Given the description of an element on the screen output the (x, y) to click on. 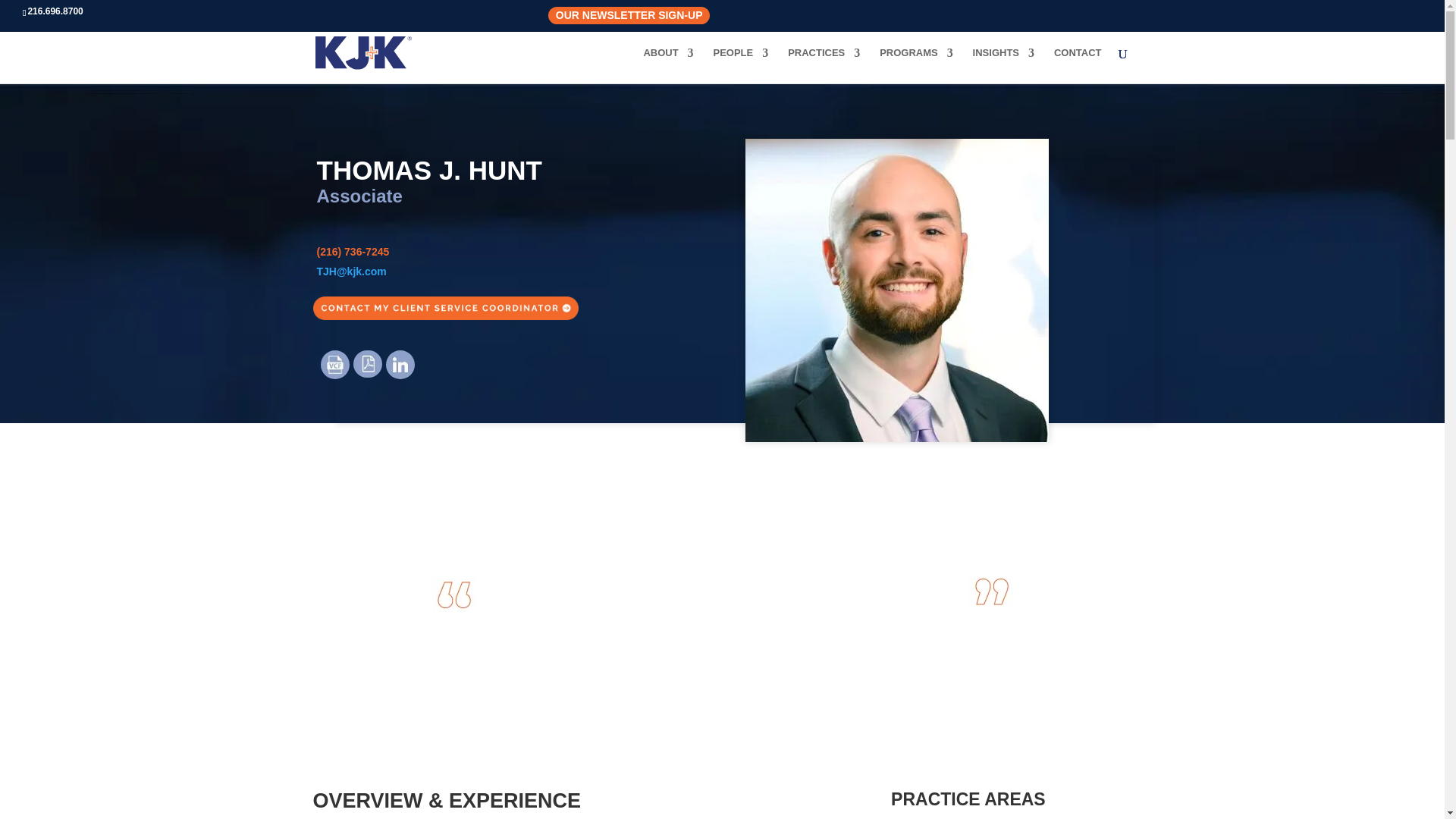
Download MY PDF Bio (367, 363)
Contact-csc (445, 308)
PRACTICES (823, 65)
Screen Shot 2020-12-07 at 11.30.06 AM (454, 593)
Download My VCF Card (334, 364)
Screen Shot 2020-12-07 at 11.31.37 AM (990, 591)
OUR NEWSLETTER SIGN-UP (629, 15)
Visit My Linkedin Profile (399, 364)
ABOUT (668, 65)
PEOPLE (740, 65)
